Given the description of an element on the screen output the (x, y) to click on. 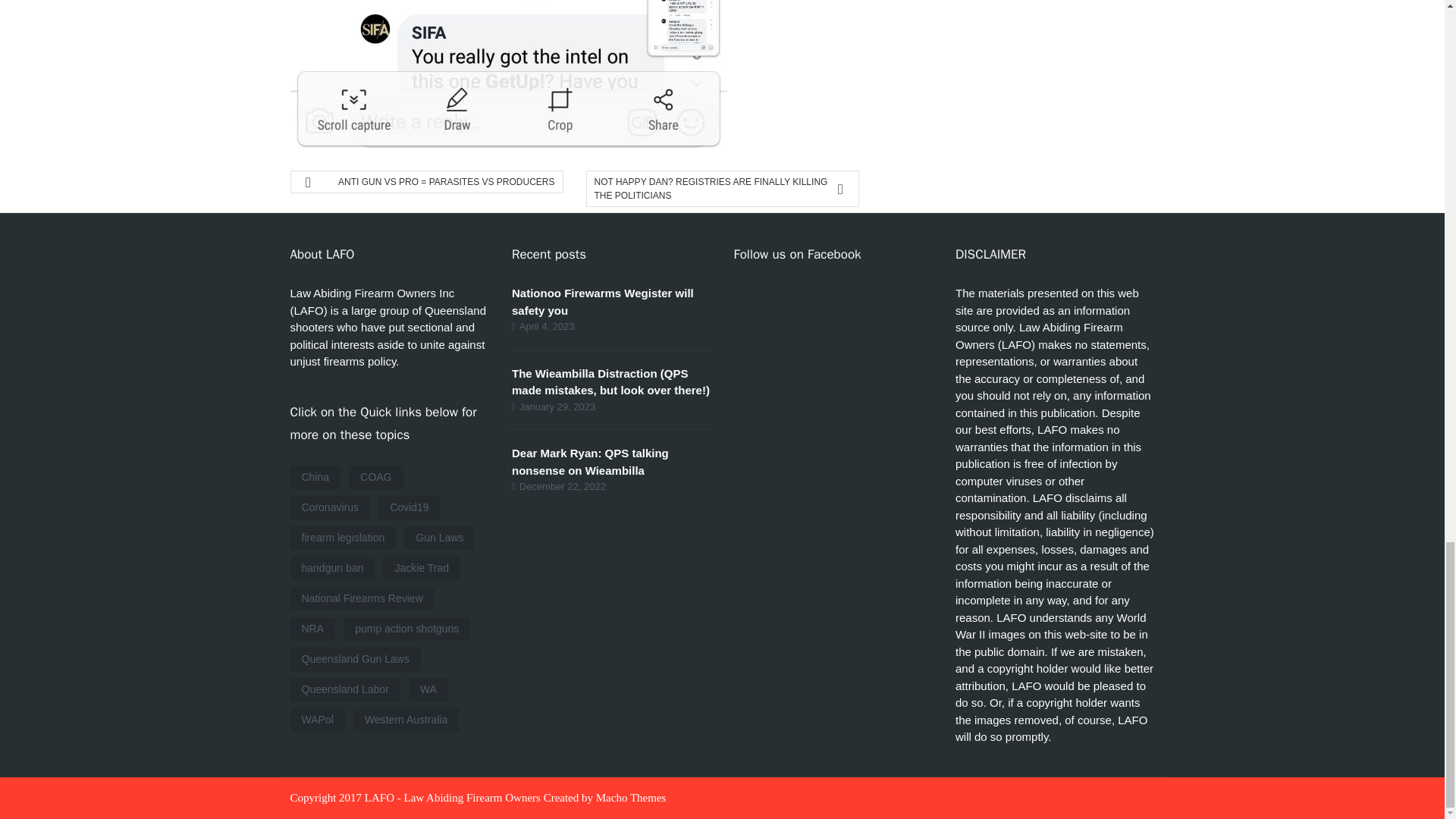
Professional WordPress Themes (630, 797)
